Given the description of an element on the screen output the (x, y) to click on. 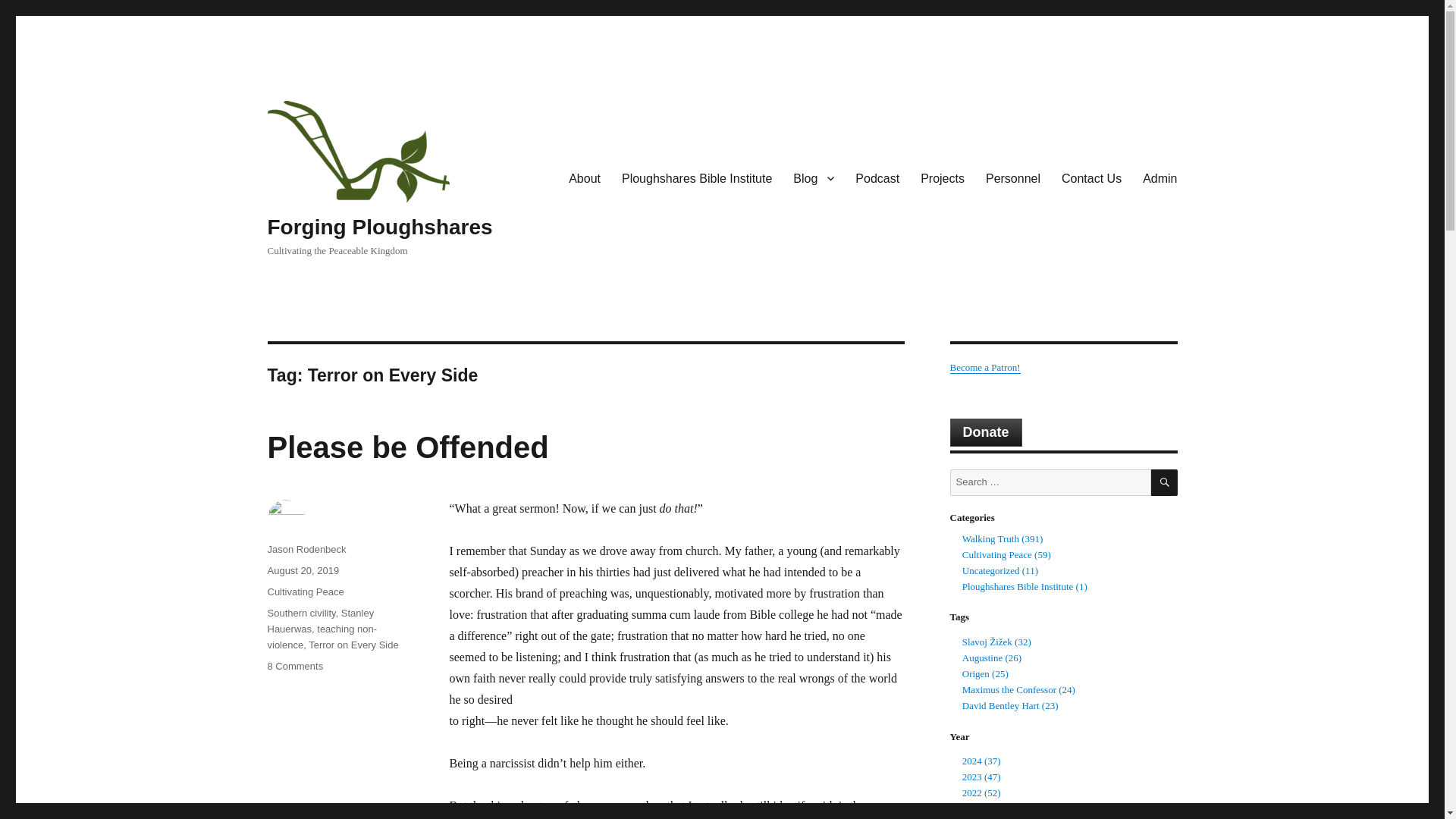
Ploughshares Bible Institute (697, 178)
Personnel (1013, 178)
Jason Rodenbeck (306, 549)
Forging Ploughshares (379, 227)
Stanley Hauerwas (320, 620)
Contact Us (1091, 178)
Admin (1160, 178)
Donate (985, 432)
Please be Offended (407, 447)
Blog (813, 178)
